Given the description of an element on the screen output the (x, y) to click on. 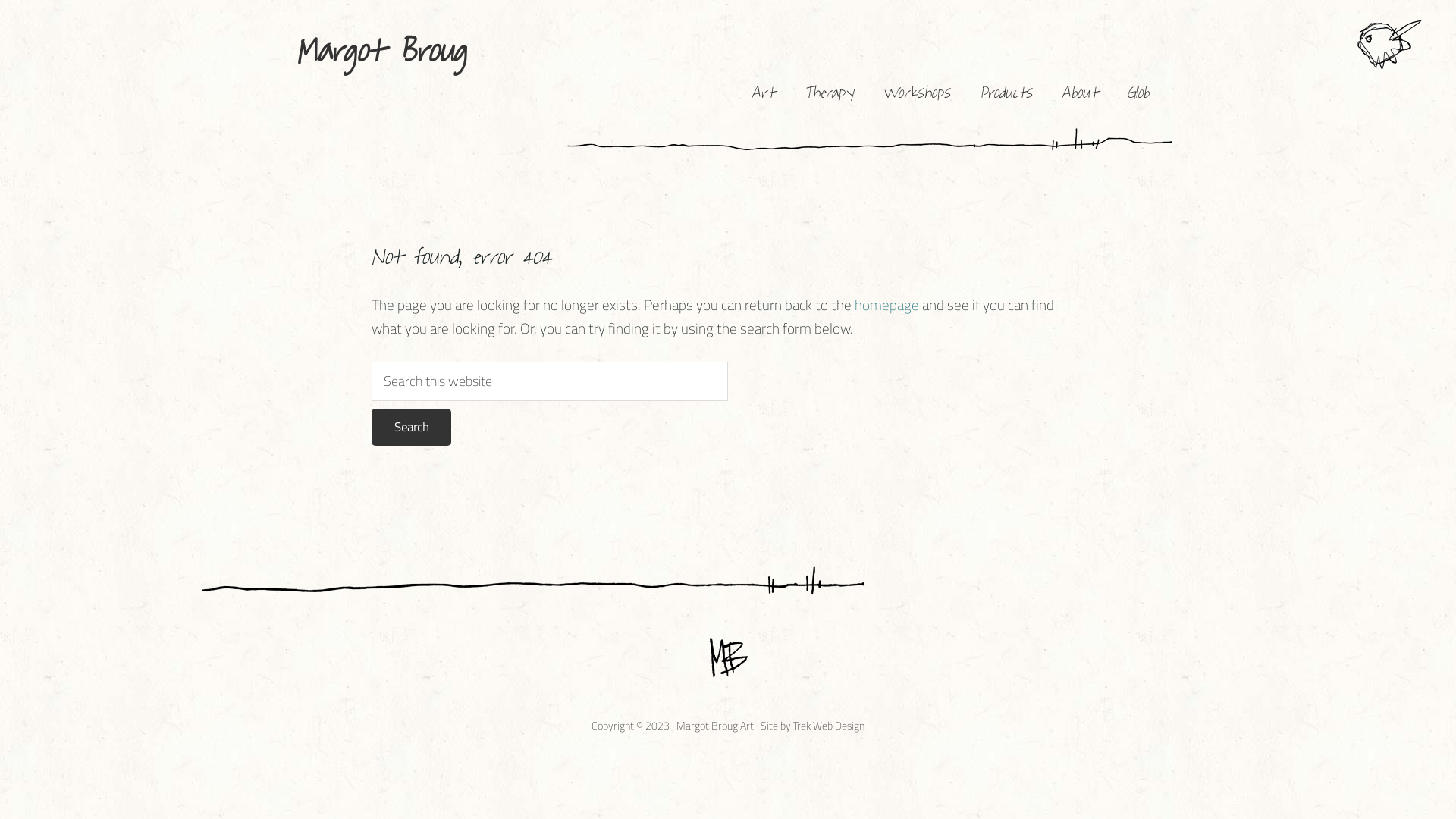
Skip to primary navigation Element type: text (0, 0)
Art Element type: text (762, 92)
About Element type: text (1079, 92)
Products Element type: text (1005, 92)
Glob Element type: text (1137, 92)
homepage Element type: text (886, 304)
Workshops Element type: text (916, 92)
Margot Broug Element type: text (380, 50)
Therapy Element type: text (828, 92)
Search Element type: text (411, 426)
